Given the description of an element on the screen output the (x, y) to click on. 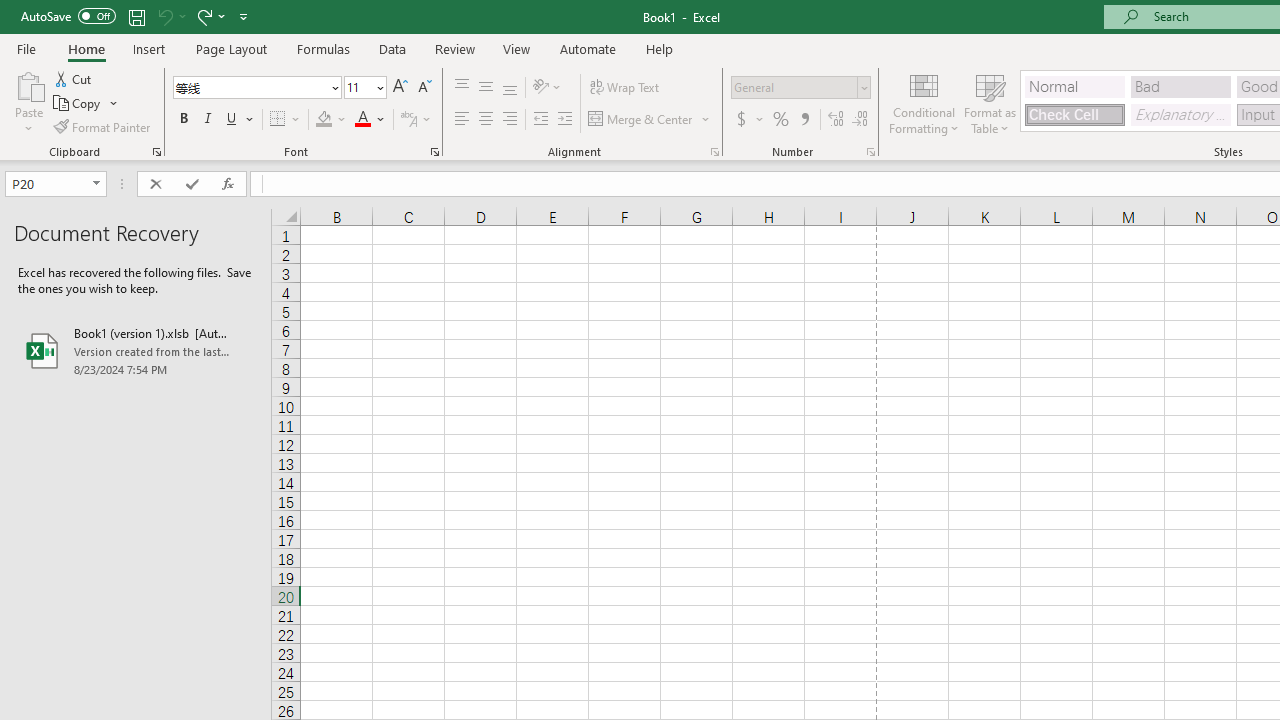
Number Format (800, 87)
Fill Color RGB(255, 255, 0) (324, 119)
More Options (760, 119)
Font (250, 87)
Name Box (46, 183)
AutoSave (68, 16)
Decrease Font Size (424, 87)
Open (96, 183)
Accounting Number Format (741, 119)
Save (136, 15)
Home (86, 48)
View (517, 48)
Align Right (509, 119)
Decrease Decimal (859, 119)
Format Cell Alignment (714, 151)
